Given the description of an element on the screen output the (x, y) to click on. 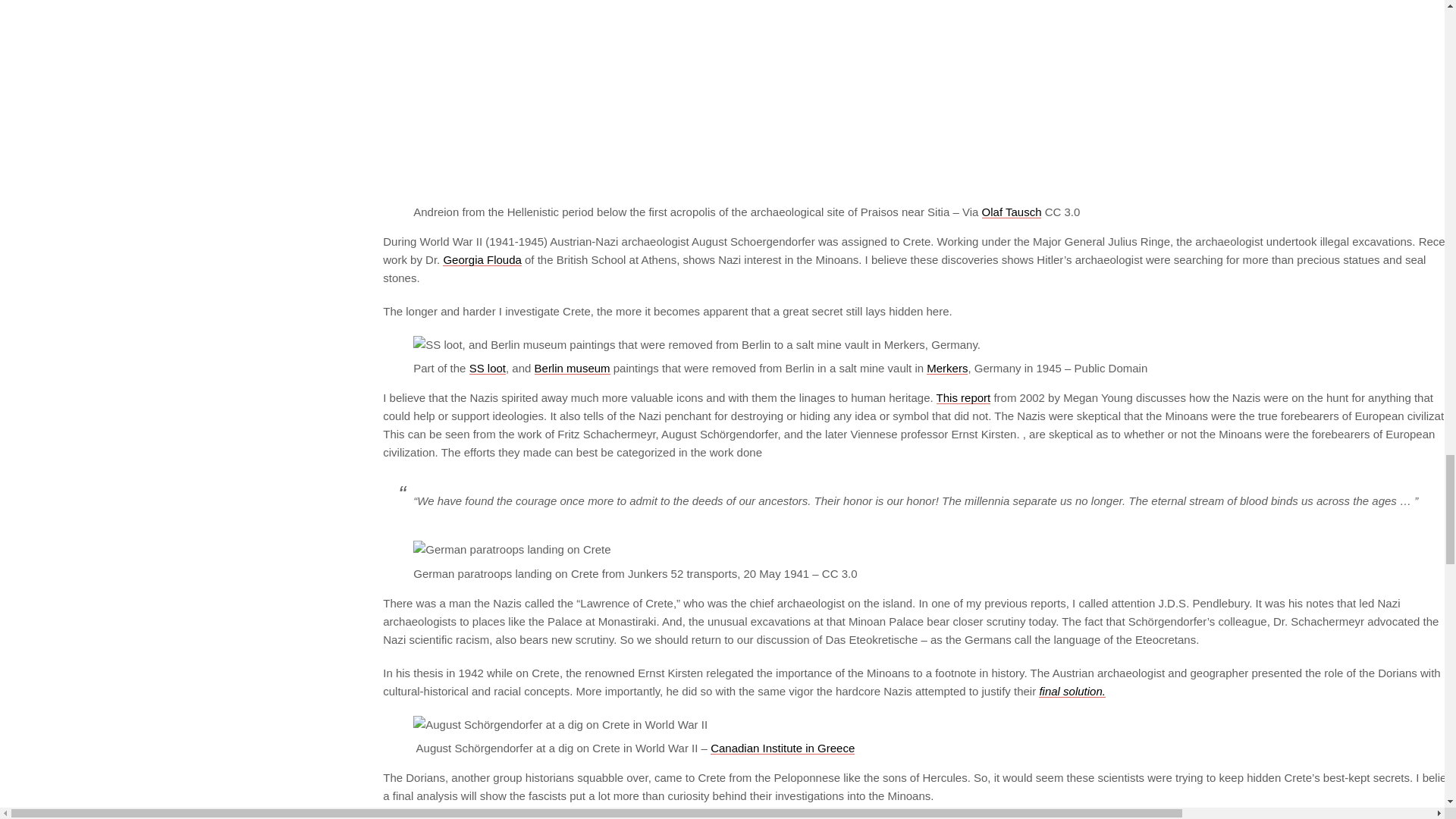
Merkers (947, 367)
final solution. (1072, 690)
SS loot (486, 367)
Georgia Flouda (481, 259)
Canadian Institute in Greece (782, 748)
This report (963, 397)
Berlin museum (572, 367)
Olaf Tausch (1011, 211)
